Given the description of an element on the screen output the (x, y) to click on. 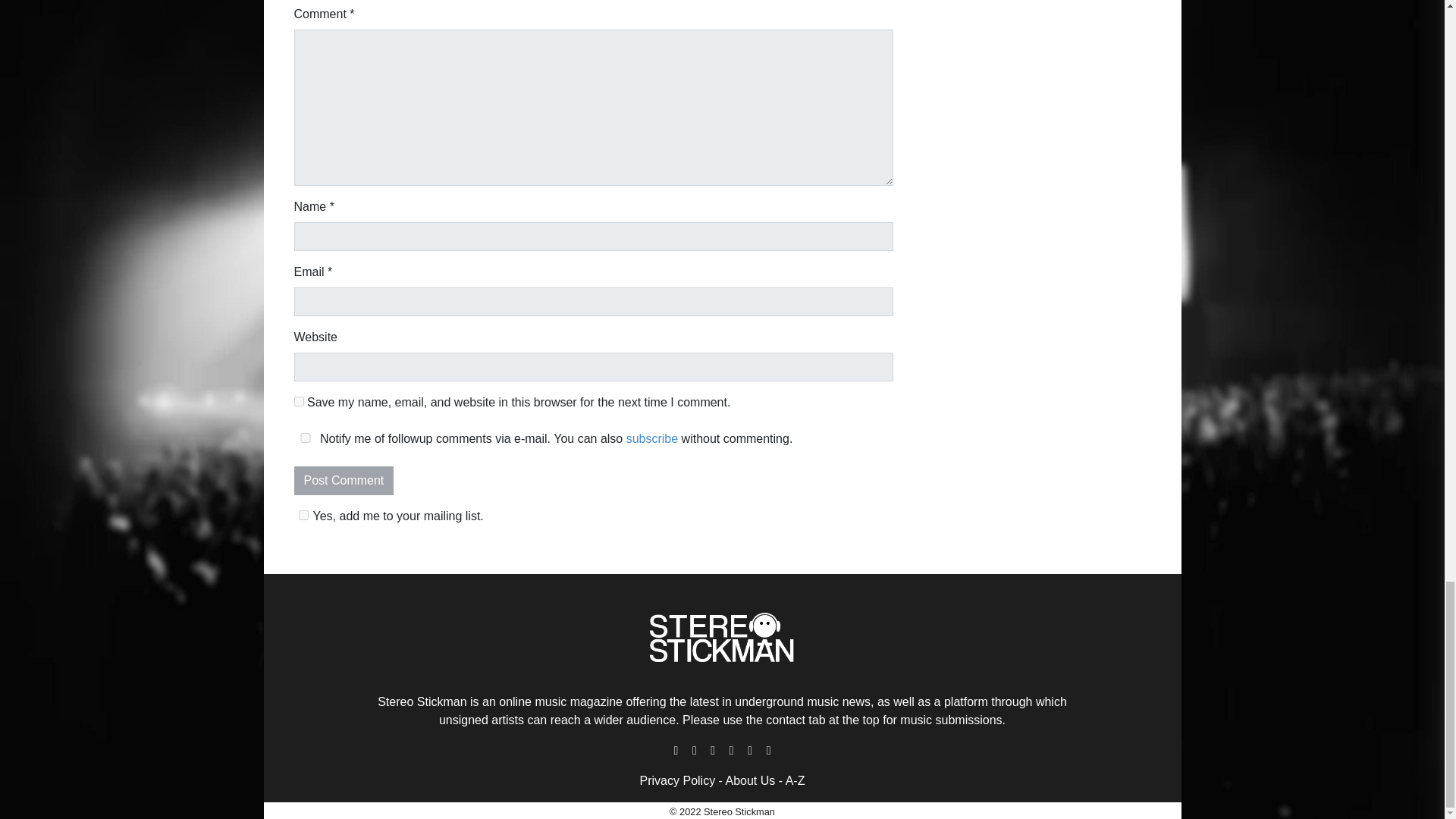
1 (303, 515)
subscribe (652, 438)
yes (305, 438)
Post Comment (344, 480)
yes (299, 401)
Post Comment (344, 480)
